Given the description of an element on the screen output the (x, y) to click on. 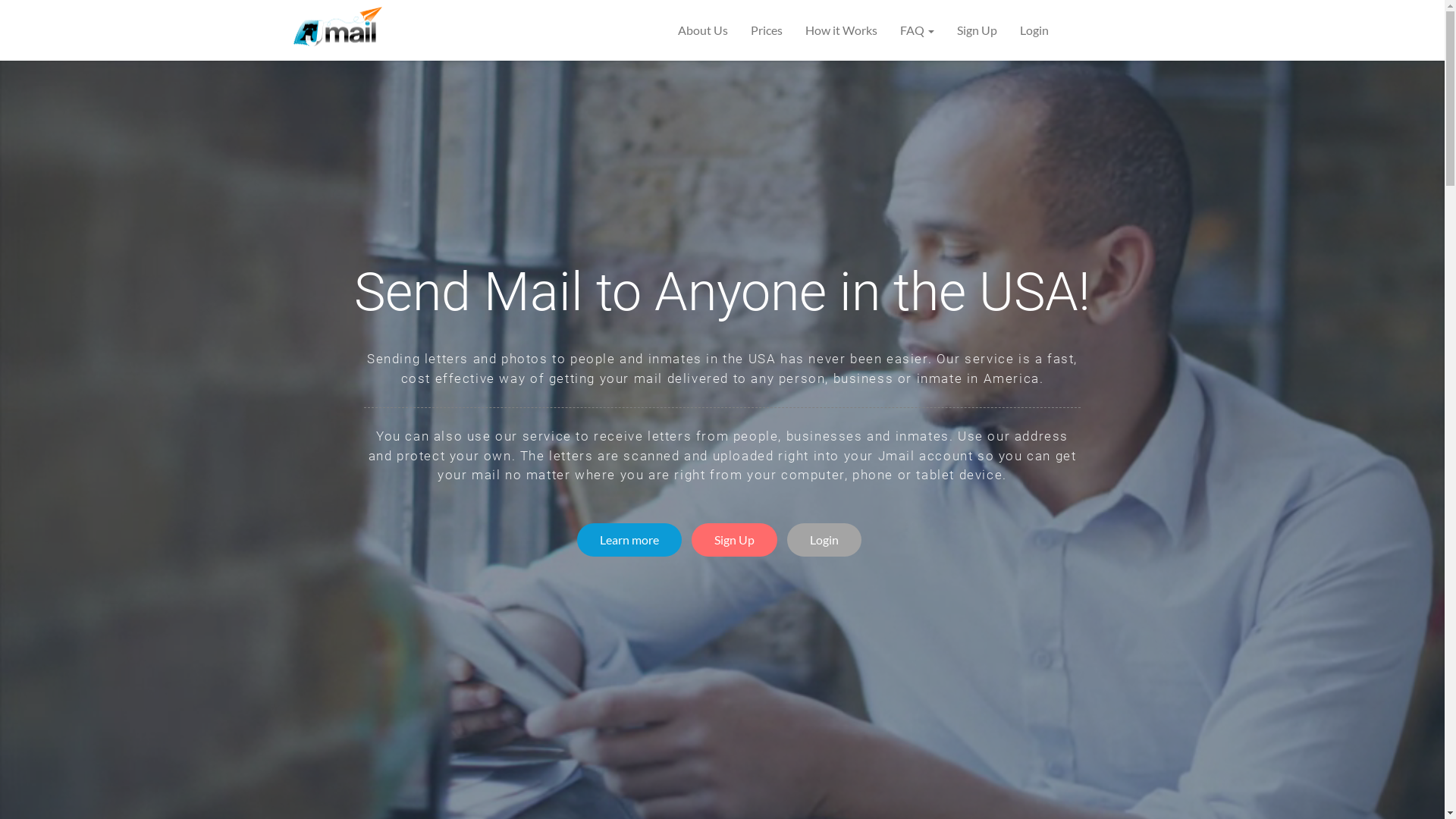
How it Works Element type: text (840, 30)
Sign Up Element type: text (734, 539)
Login Element type: text (1034, 30)
About Us Element type: text (701, 30)
Sign Up Element type: text (975, 30)
Login Element type: text (824, 539)
Learn more Element type: text (629, 539)
Prices Element type: text (765, 30)
FAQ Element type: text (916, 30)
